Given the description of an element on the screen output the (x, y) to click on. 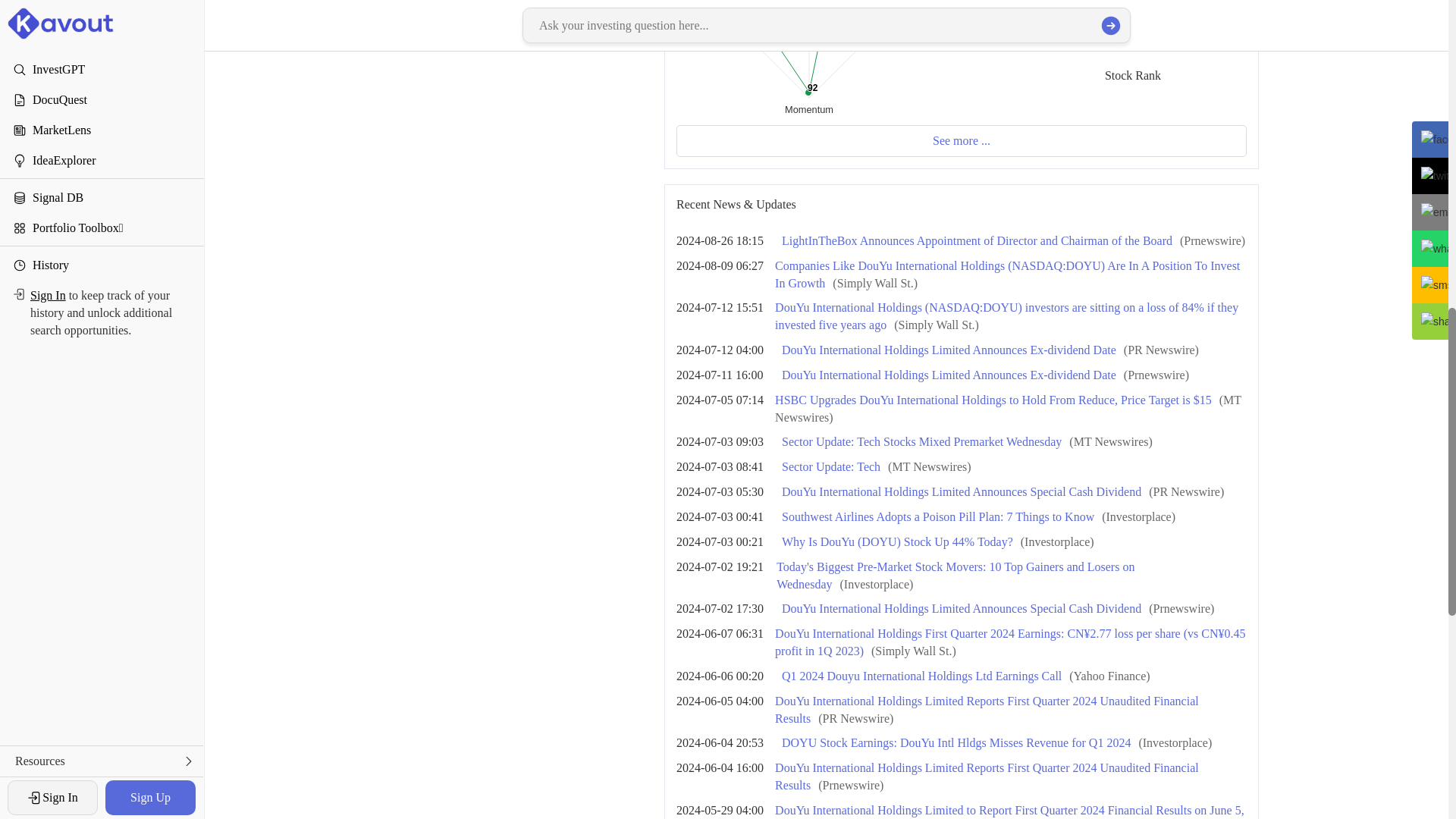
Sector Update: Tech Stocks Mixed Premarket Wednesday (809, 58)
Sector Update: Tech (921, 440)
See more ... (830, 466)
